Given the description of an element on the screen output the (x, y) to click on. 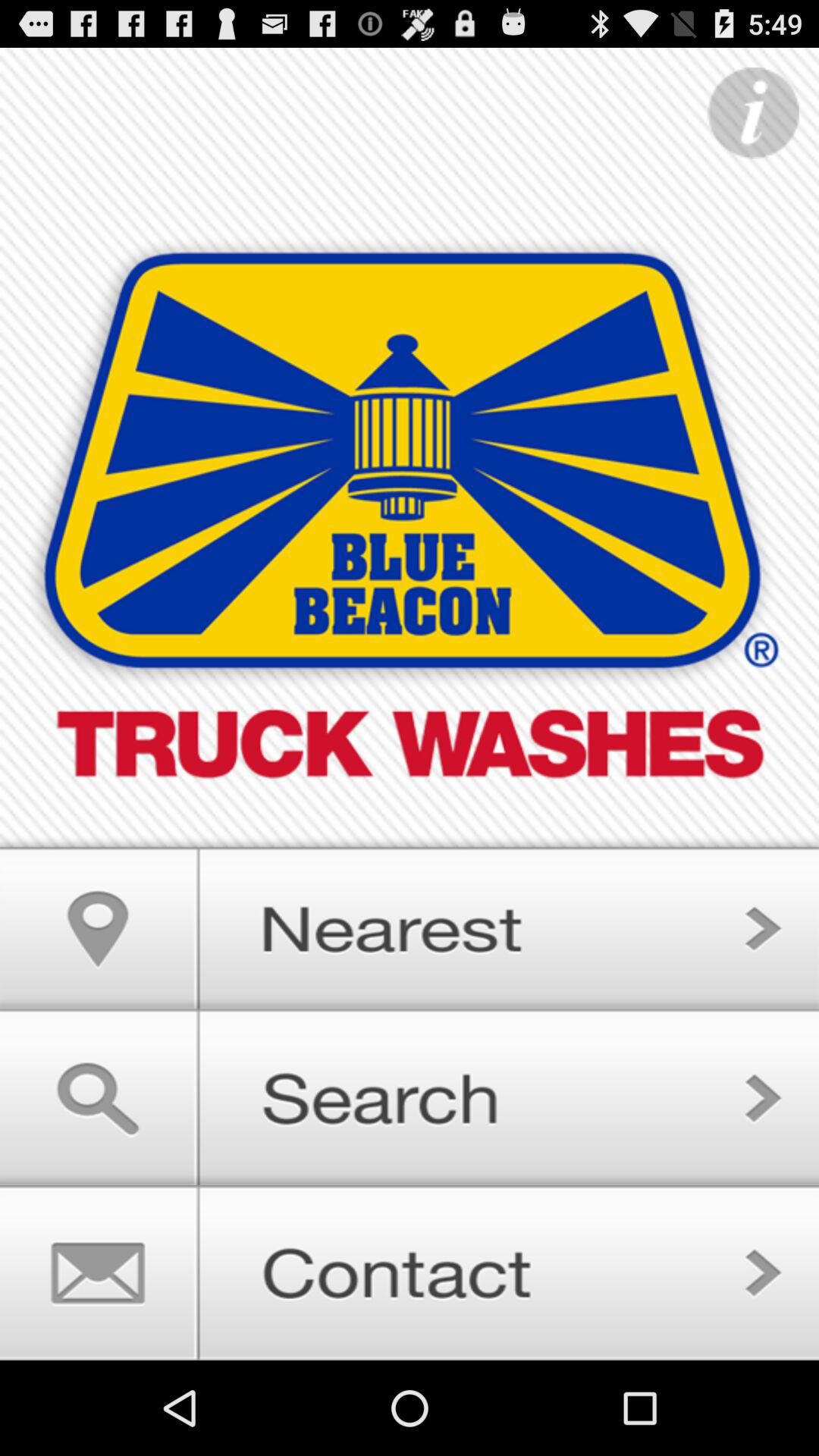
open contact (409, 1272)
